Given the description of an element on the screen output the (x, y) to click on. 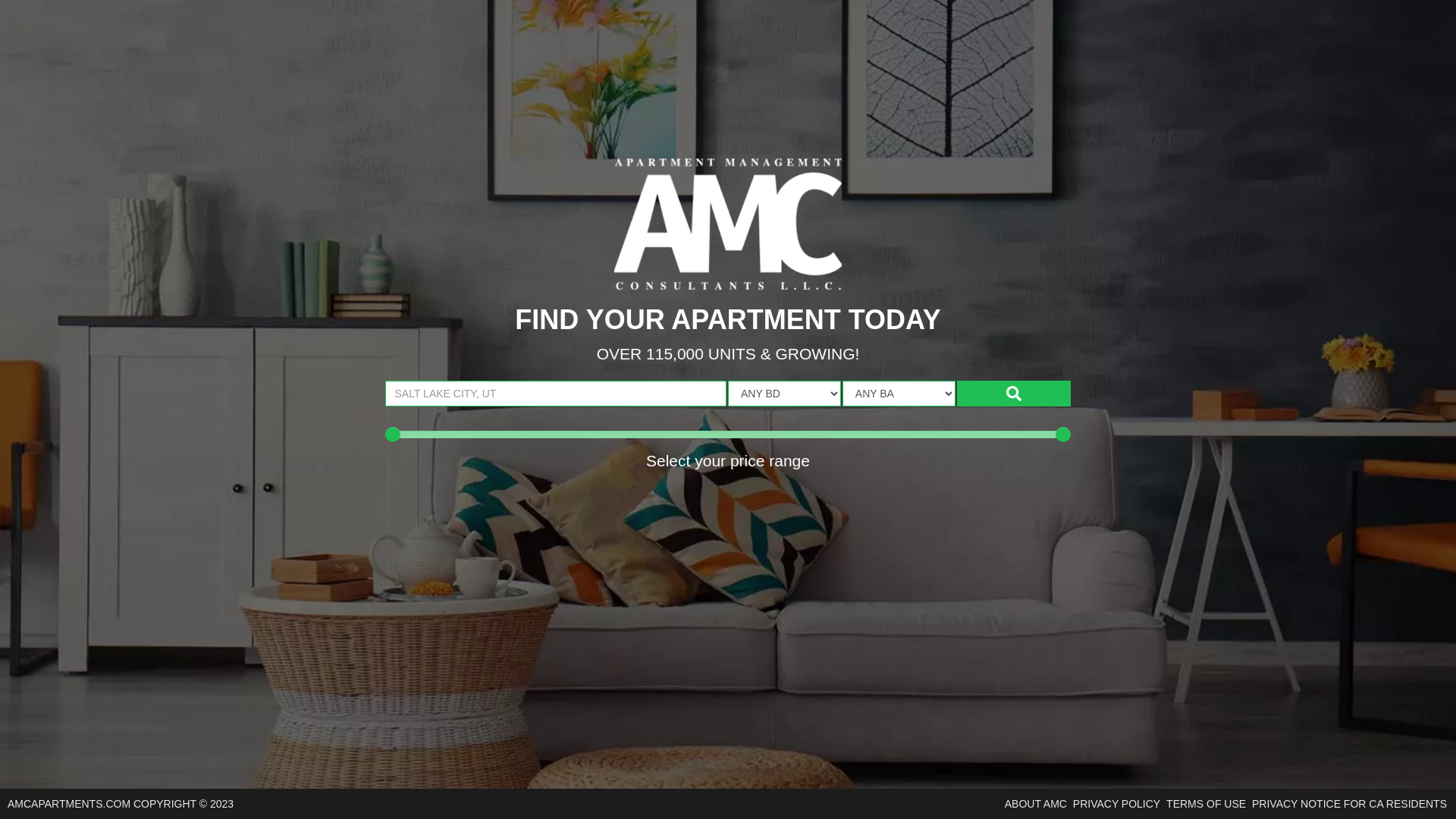
ABOUT AMC Element type: text (1035, 803)
PRIVACY POLICY Element type: text (1116, 803)
PRIVACY NOTICE FOR CA RESIDENTS Element type: text (1349, 803)
TERMS OF USE Element type: text (1205, 803)
